Given the description of an element on the screen output the (x, y) to click on. 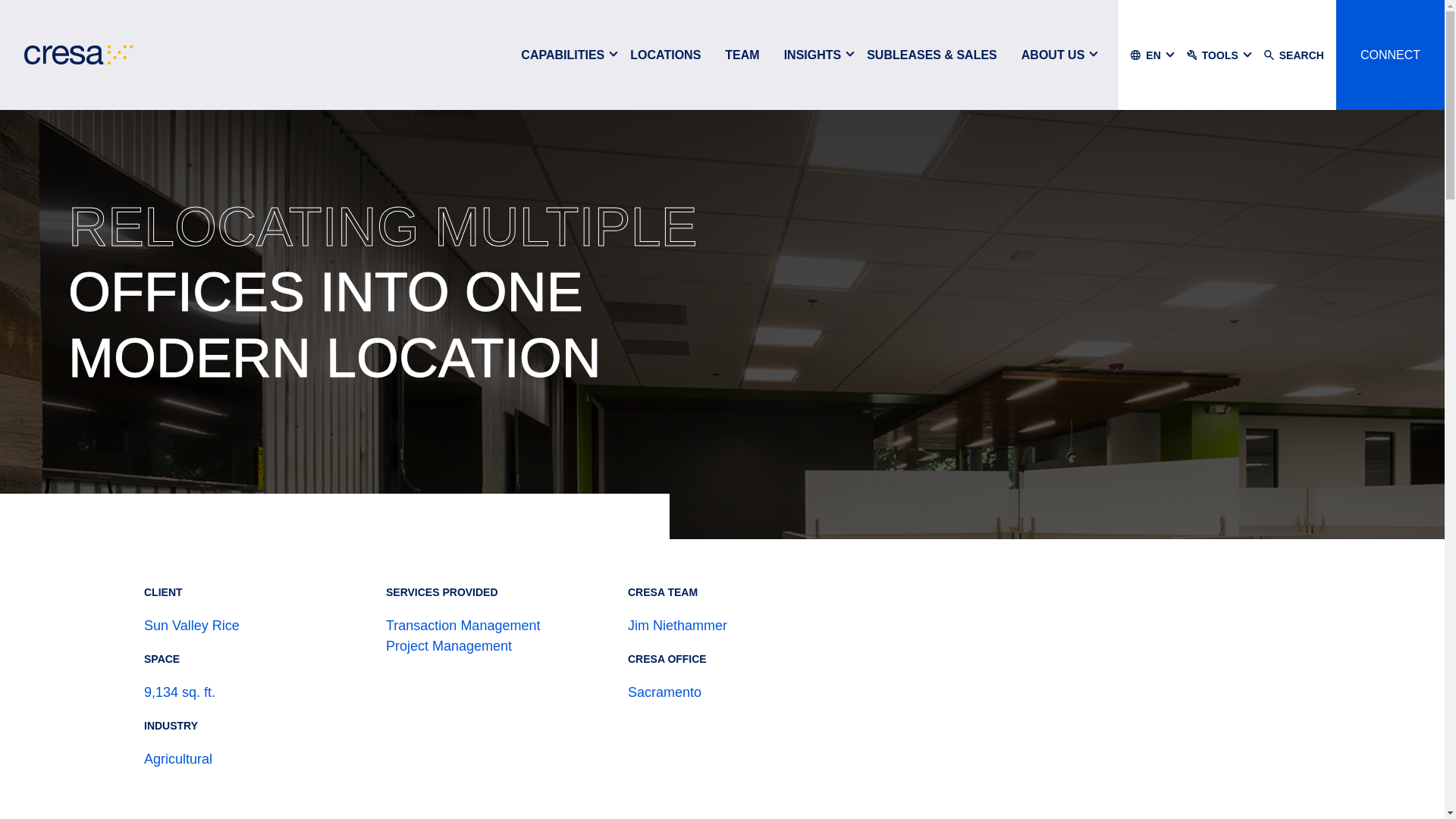
TEAM (742, 54)
CAPABILITIES (561, 54)
LOCATIONS (665, 54)
INSIGHTS (812, 54)
